Given the description of an element on the screen output the (x, y) to click on. 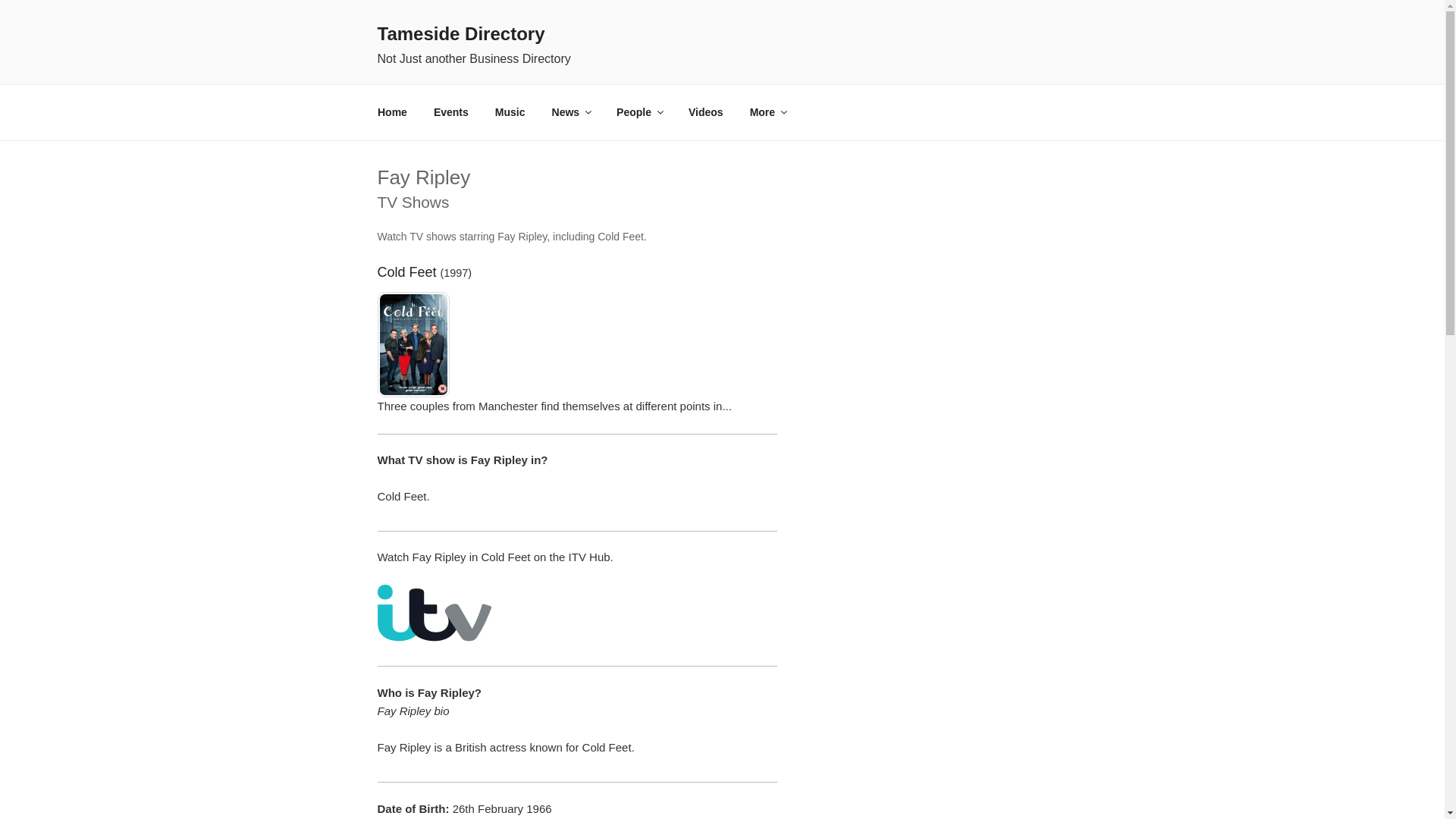
People (639, 112)
Events (450, 112)
Music (509, 112)
Home (392, 112)
Tameside Directory (460, 33)
News (571, 112)
